Given the description of an element on the screen output the (x, y) to click on. 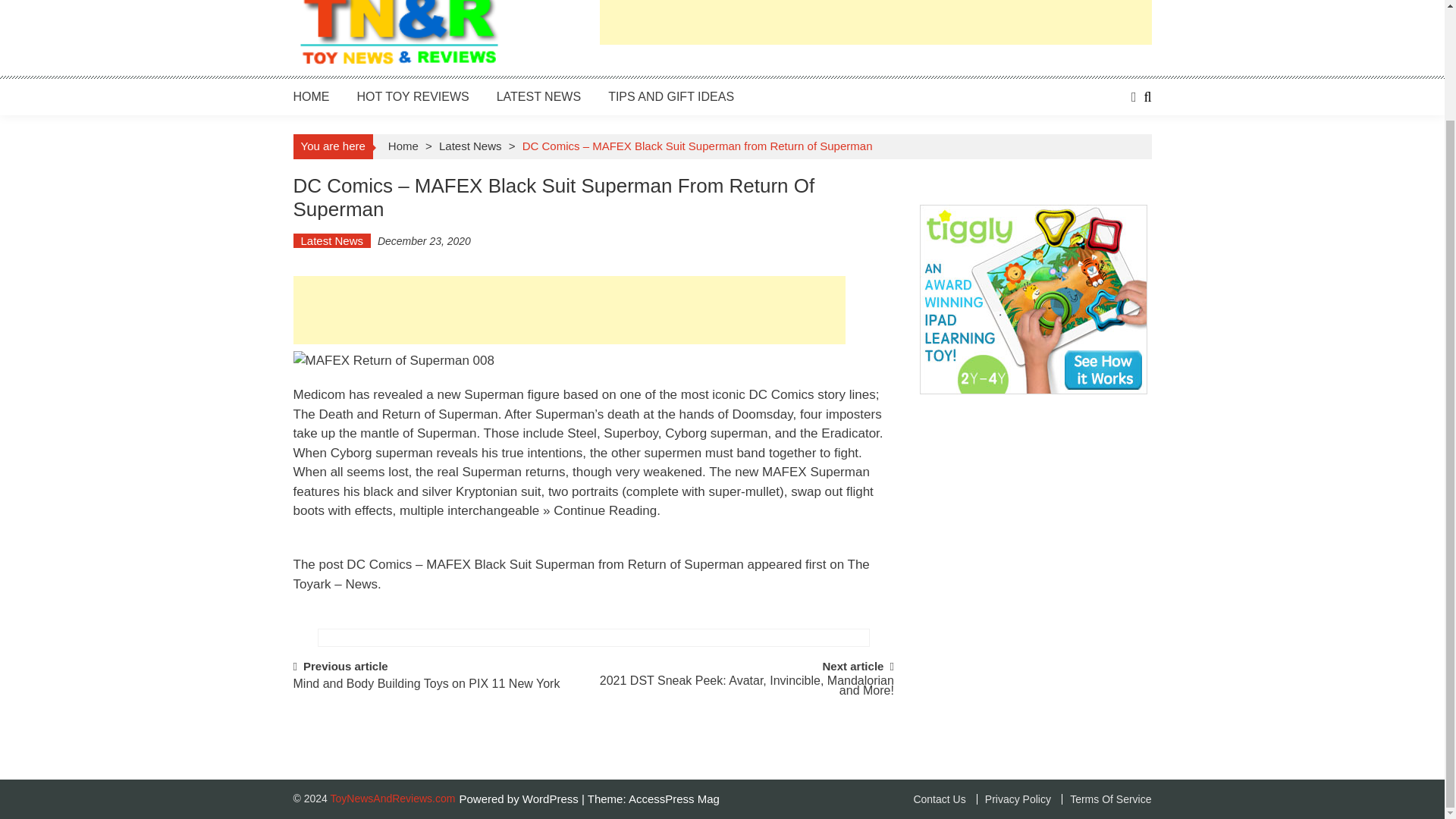
Latest News (470, 145)
Contact Us (938, 798)
AccessPress Mag (673, 798)
HOT TOY REVIEWS (412, 96)
TIPS AND GIFT IDEAS (670, 96)
Privacy Policy (1013, 798)
ToyNewsAndReviews.com (392, 798)
Advertisement (874, 22)
AccessPress Themes (673, 798)
Latest News (331, 240)
WordPress (551, 798)
Advertisement (568, 309)
HOME (310, 96)
Mind and Body Building Toys on PIX 11 New York (425, 690)
LATEST NEWS (538, 96)
